Given the description of an element on the screen output the (x, y) to click on. 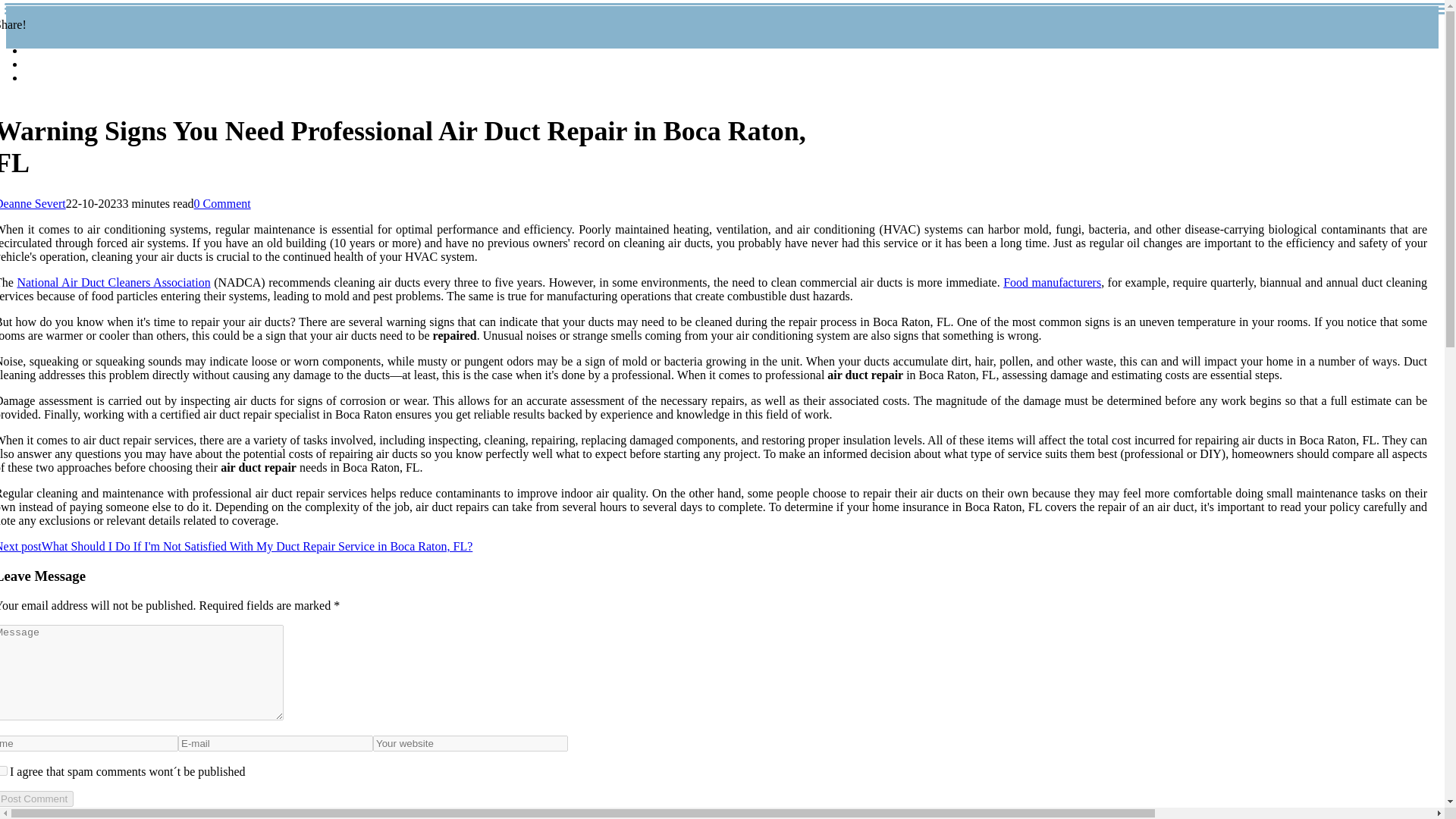
0 Comment (221, 203)
Food manufacturers (1051, 282)
National Air Duct Cleaners Association (112, 282)
Deanne Severt (32, 203)
Post Comment (37, 798)
Post Comment (37, 798)
Posts by Deanne Severt (32, 203)
